Given the description of an element on the screen output the (x, y) to click on. 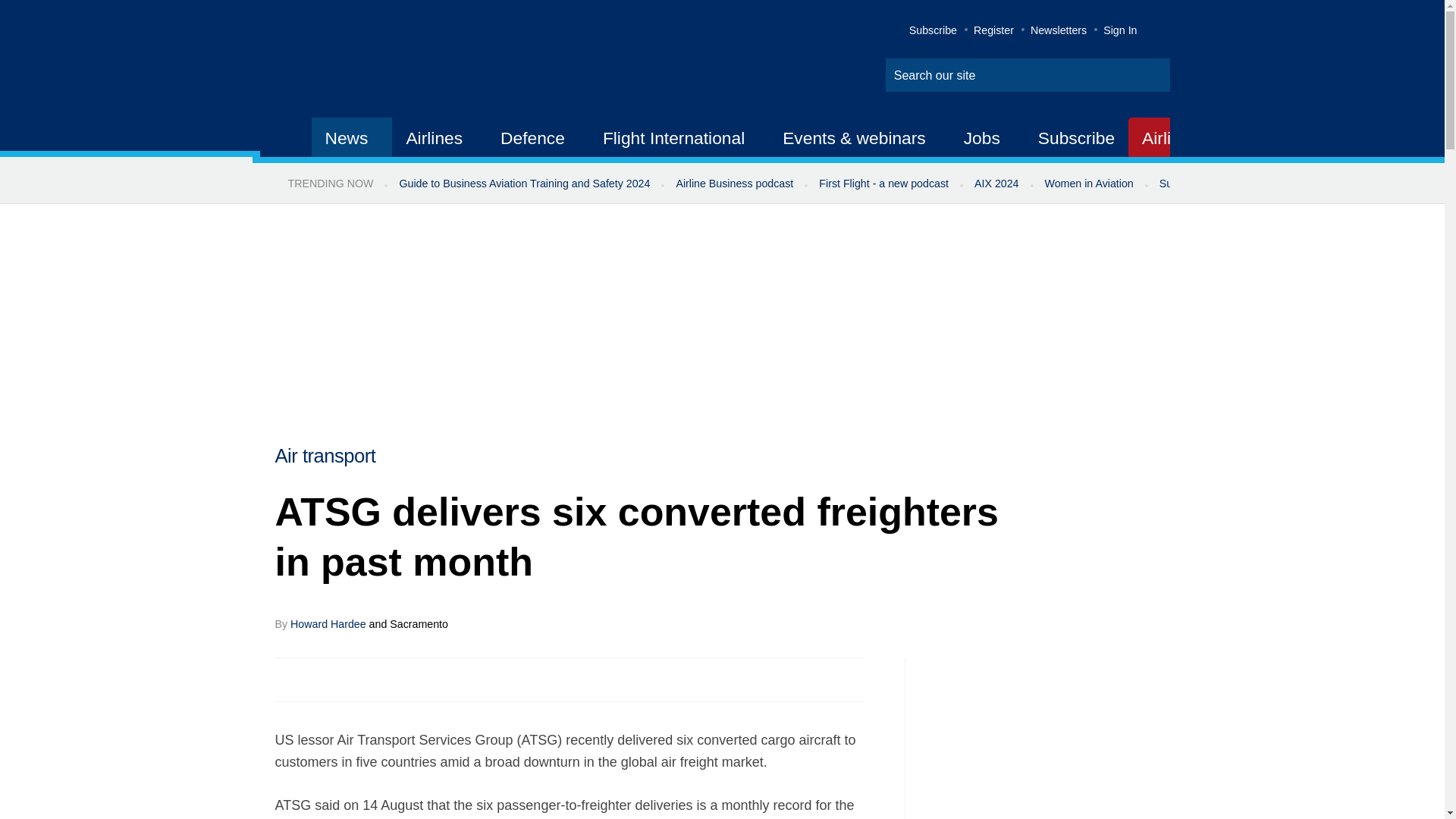
Women in Aviation (1089, 183)
Email this article (386, 678)
Guide to Business Aviation Training and Safety 2024 (523, 183)
Share this on Linked in (352, 678)
AIX 2024 (996, 183)
Airline Business podcast (734, 183)
First Flight - a new podcast (883, 183)
Share this on Facebook (288, 678)
Share this on Twitter (320, 678)
Site name (422, 60)
